Given the description of an element on the screen output the (x, y) to click on. 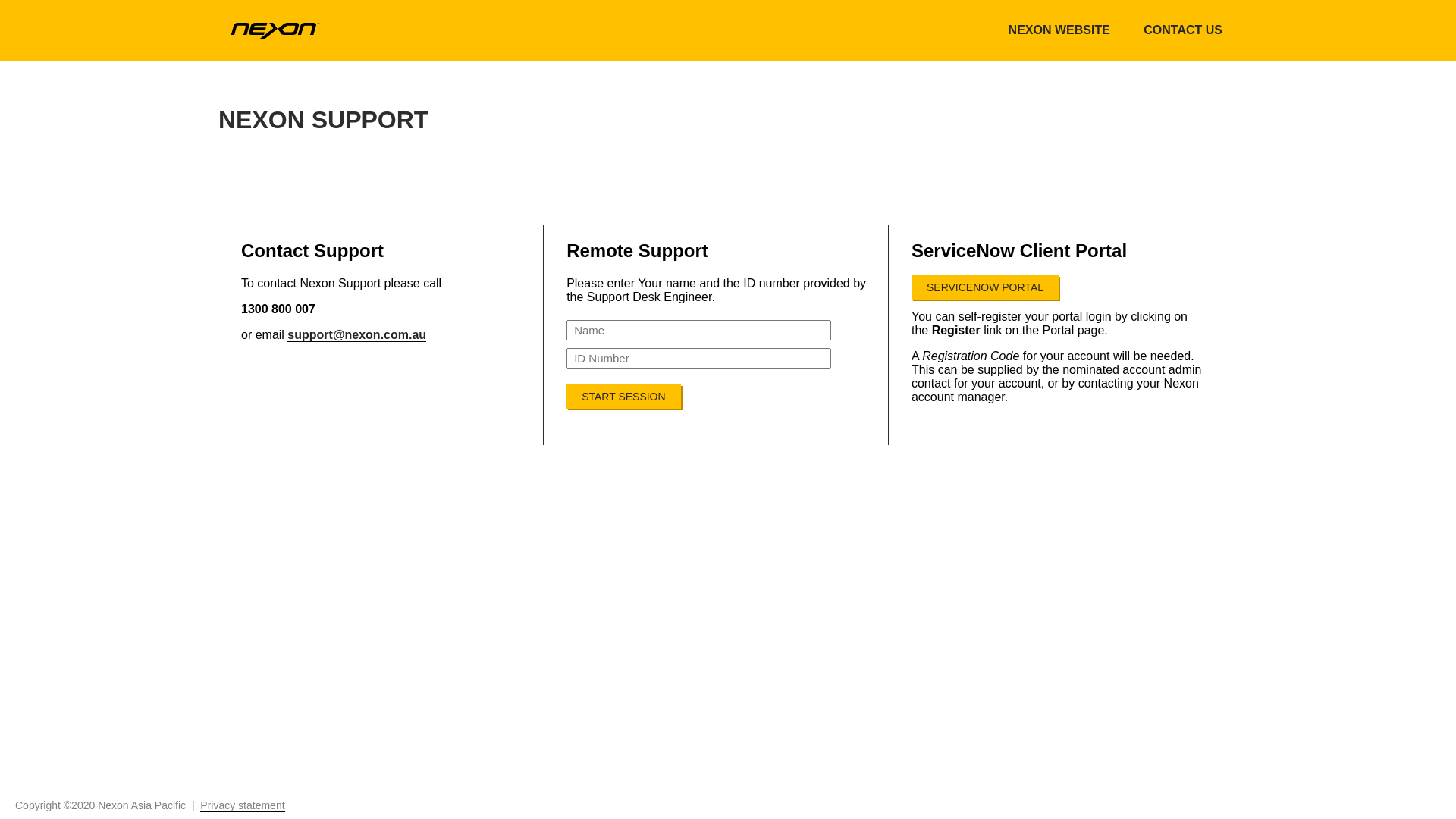
Privacy statement Element type: text (242, 805)
SERVICENOW PORTAL Element type: text (984, 287)
Nexon Element type: hover (275, 28)
START SESSION Element type: text (623, 396)
NEXON WEBSITE Element type: text (1059, 29)
support@nexon.com.au Element type: text (356, 335)
CONTACT US Element type: text (1182, 29)
